Given the description of an element on the screen output the (x, y) to click on. 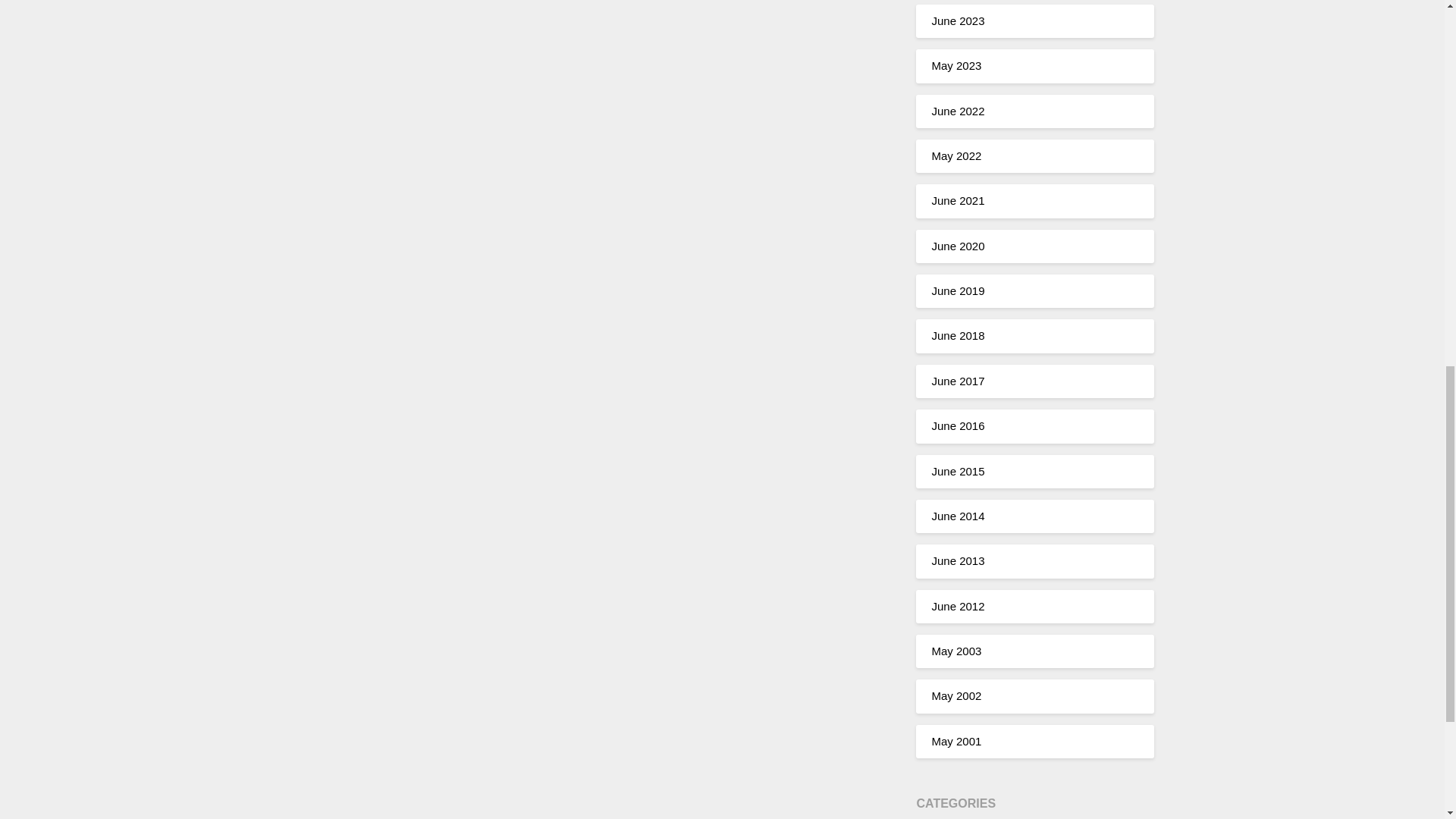
May 2003 (956, 650)
June 2014 (957, 515)
June 2021 (957, 200)
June 2019 (957, 290)
May 2023 (956, 65)
June 2015 (957, 470)
June 2012 (957, 605)
June 2016 (957, 425)
June 2022 (957, 110)
May 2001 (956, 740)
